Given the description of an element on the screen output the (x, y) to click on. 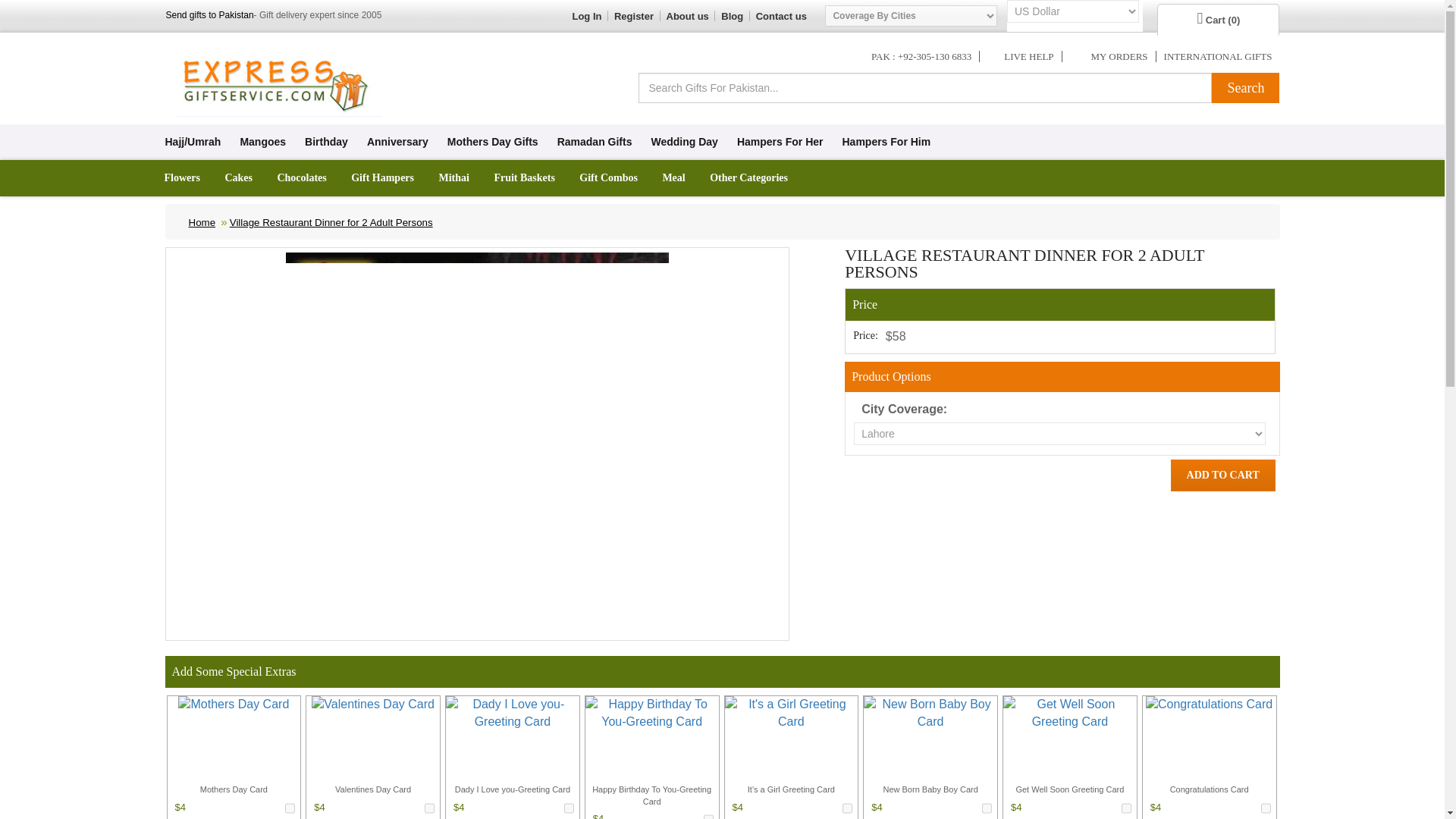
LIVE HELP (1028, 56)
Mangoes (262, 141)
About us (686, 16)
International Gifts (1217, 56)
Birthday (325, 141)
Send gifts to Pakistan (209, 15)
Wedding Day (683, 141)
3.0500 (708, 814)
Hampers For Her (780, 141)
Mothers Day Gifts (492, 141)
Hampers For Him (885, 141)
Send Flowers to Pakistan Online (180, 177)
Log In (586, 16)
MY ORDERS (1119, 56)
Flowers (180, 177)
